Given the description of an element on the screen output the (x, y) to click on. 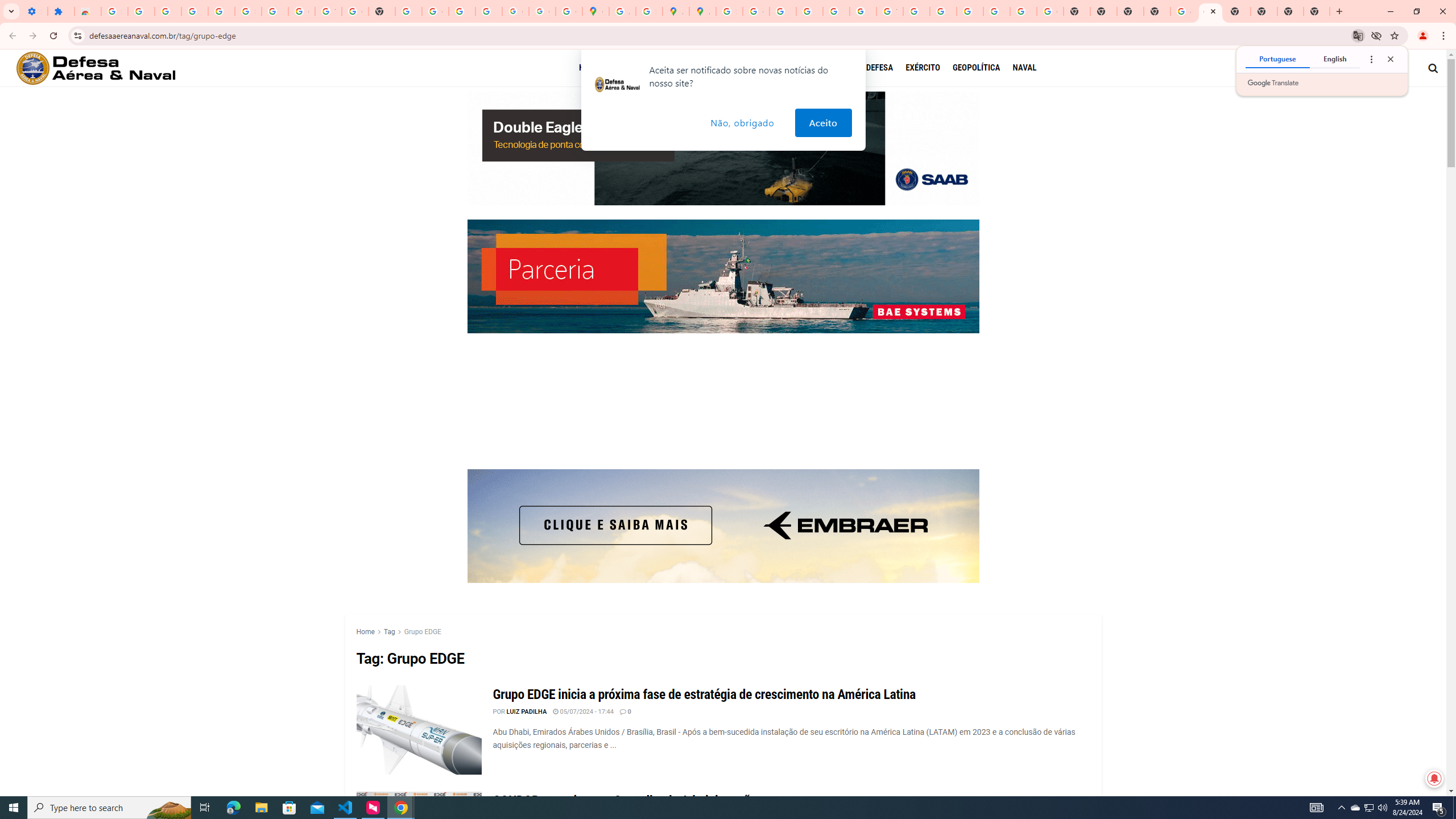
https://scholar.google.com/ (408, 11)
AutomationID: menu-item-123874 (681, 67)
Google Maps (595, 11)
Privacy Help Center - Policies Help (782, 11)
YouTube (889, 11)
